Given the description of an element on the screen output the (x, y) to click on. 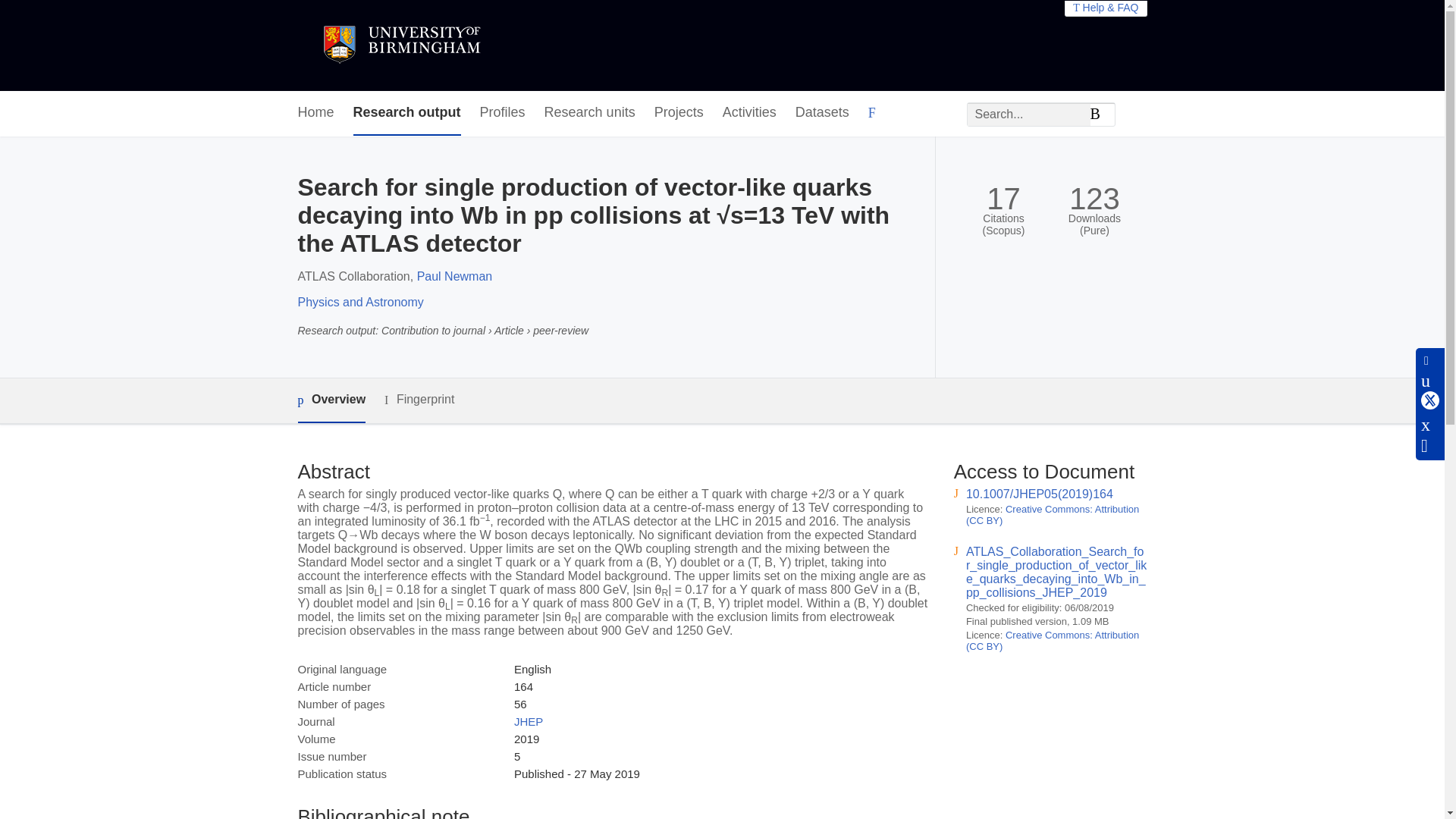
Datasets (821, 112)
Overview (331, 400)
Paul Newman (454, 276)
Activities (749, 112)
Profiles (502, 112)
JHEP (528, 721)
University of Birmingham Home (401, 45)
Research output (407, 112)
Physics and Astronomy (360, 301)
